Given the description of an element on the screen output the (x, y) to click on. 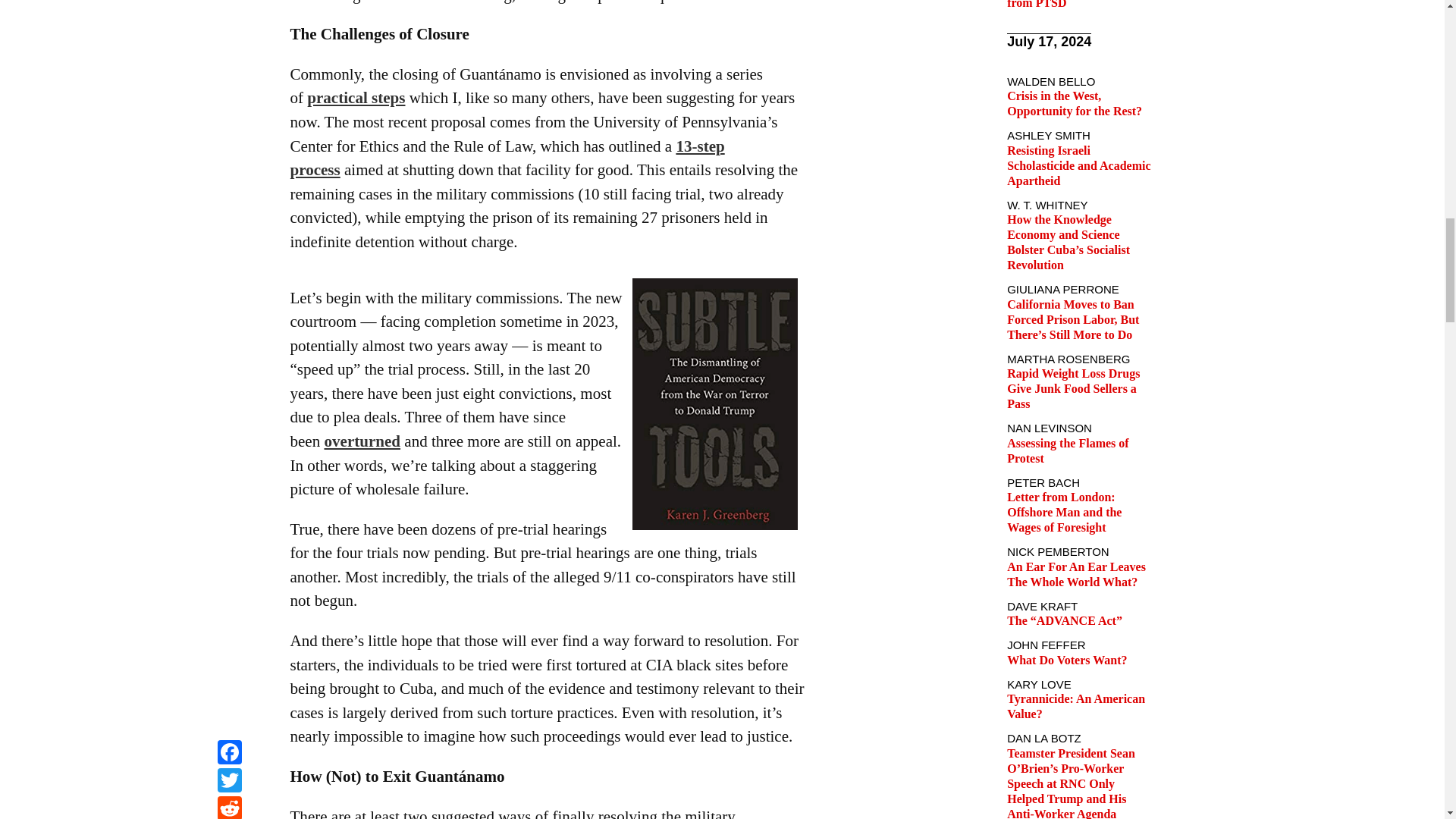
overturned (362, 441)
13-step process (506, 158)
practical steps (355, 97)
